Given the description of an element on the screen output the (x, y) to click on. 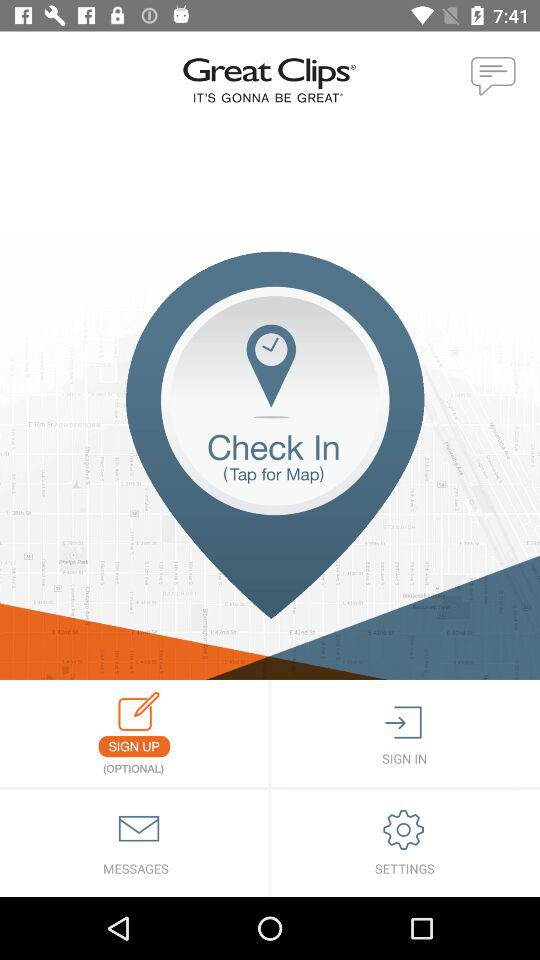
click to sign in (405, 733)
